Given the description of an element on the screen output the (x, y) to click on. 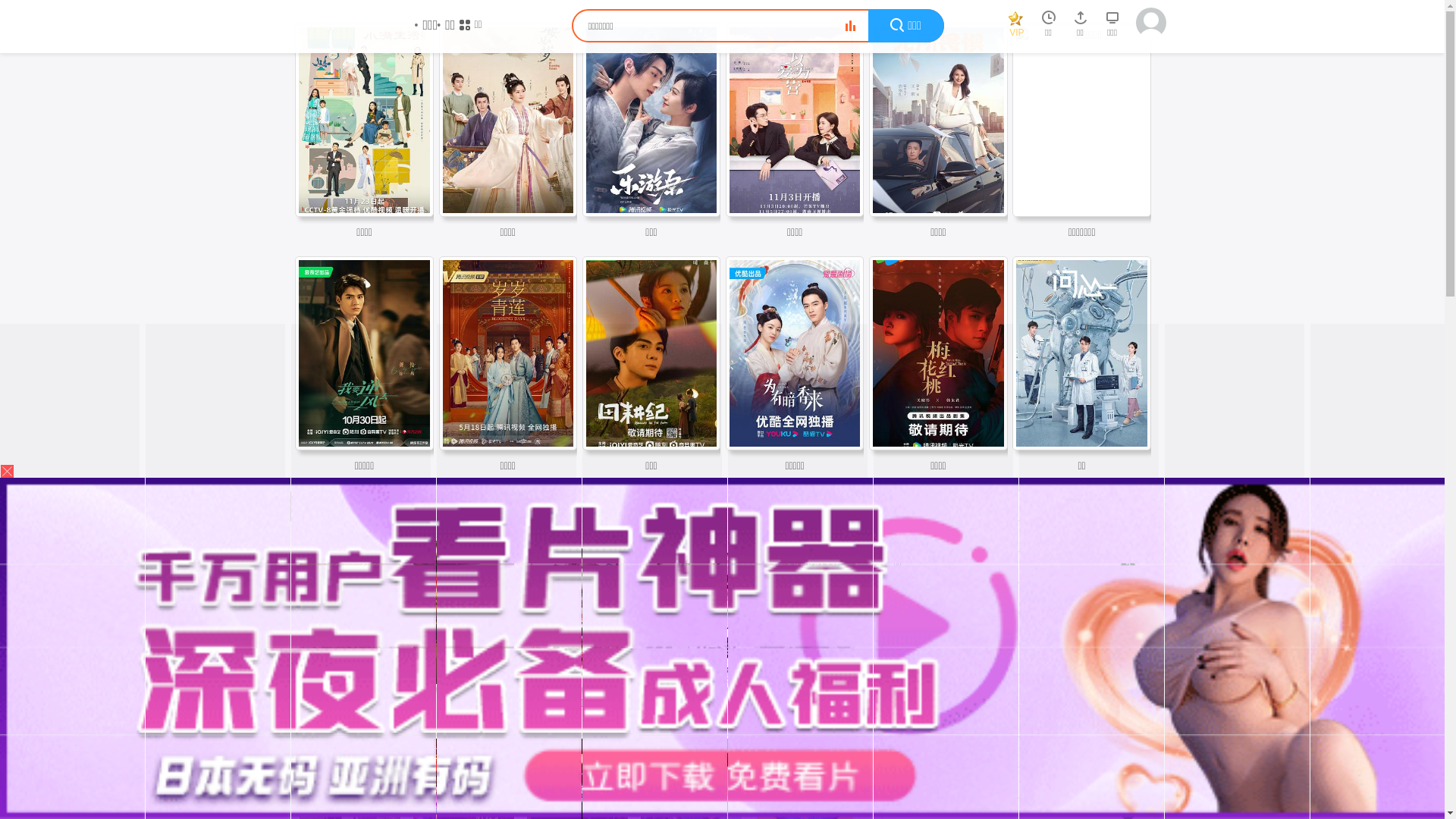
VIP Element type: text (1015, 26)
